Given the description of an element on the screen output the (x, y) to click on. 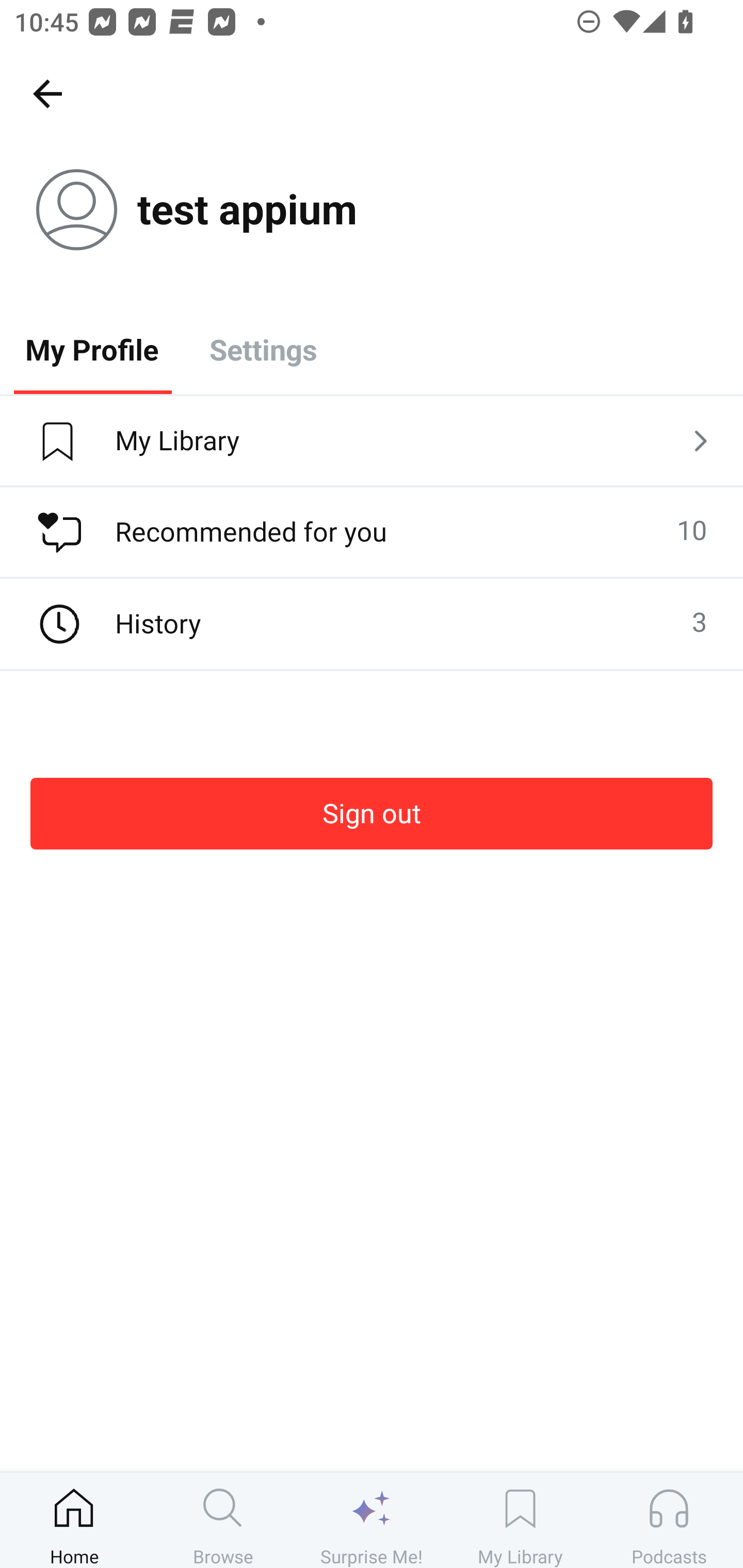
Home, back (47, 92)
My Profile (92, 348)
Settings (263, 348)
My Library (371, 441)
Recommended for you 10 (371, 532)
History 3 (371, 623)
Sign out (371, 813)
Home (74, 1520)
Browse (222, 1520)
Surprise Me! (371, 1520)
My Library (519, 1520)
Podcasts (668, 1520)
